Given the description of an element on the screen output the (x, y) to click on. 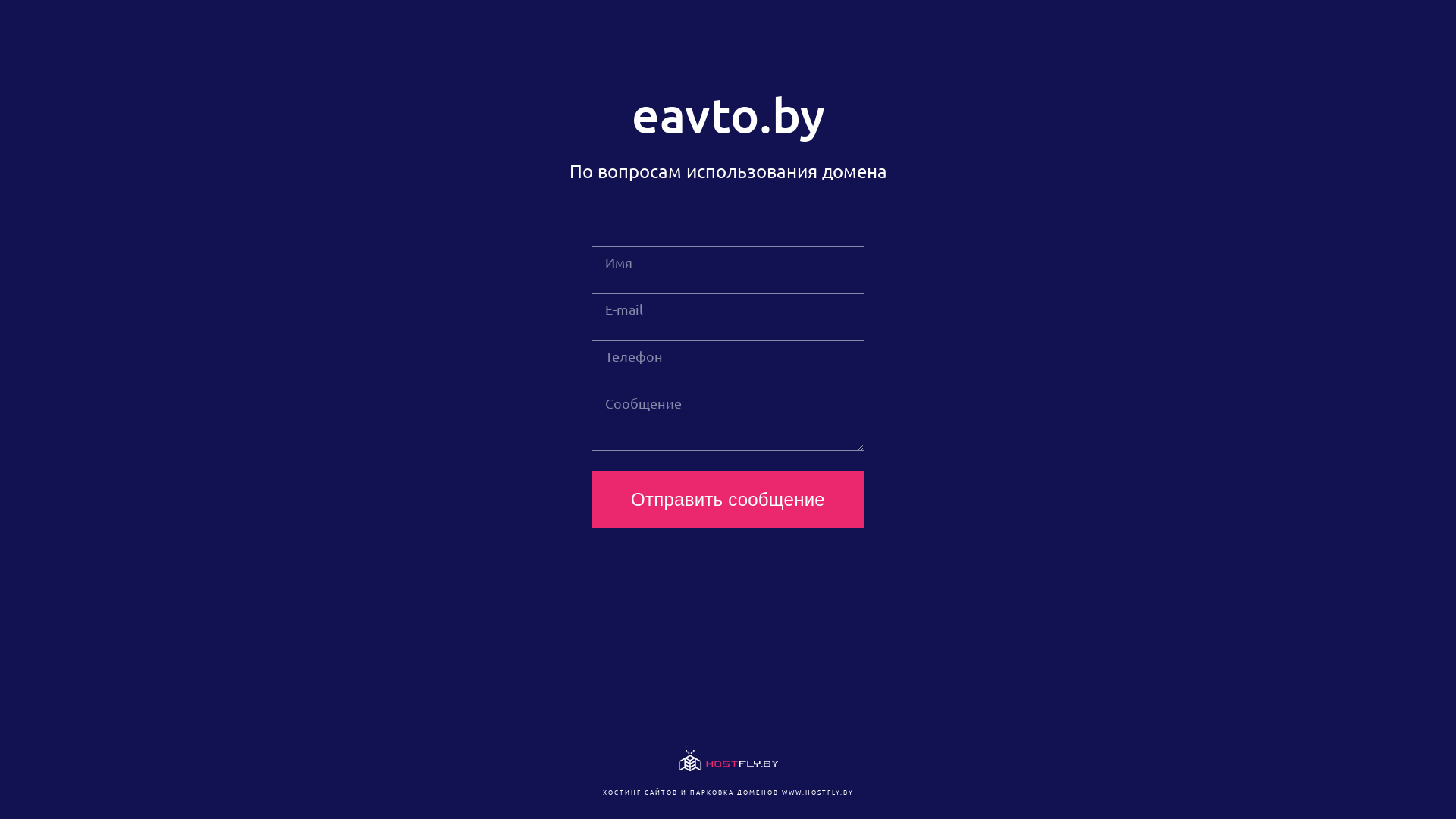
WWW.HOSTFLY.BY Element type: text (817, 791)
